Given the description of an element on the screen output the (x, y) to click on. 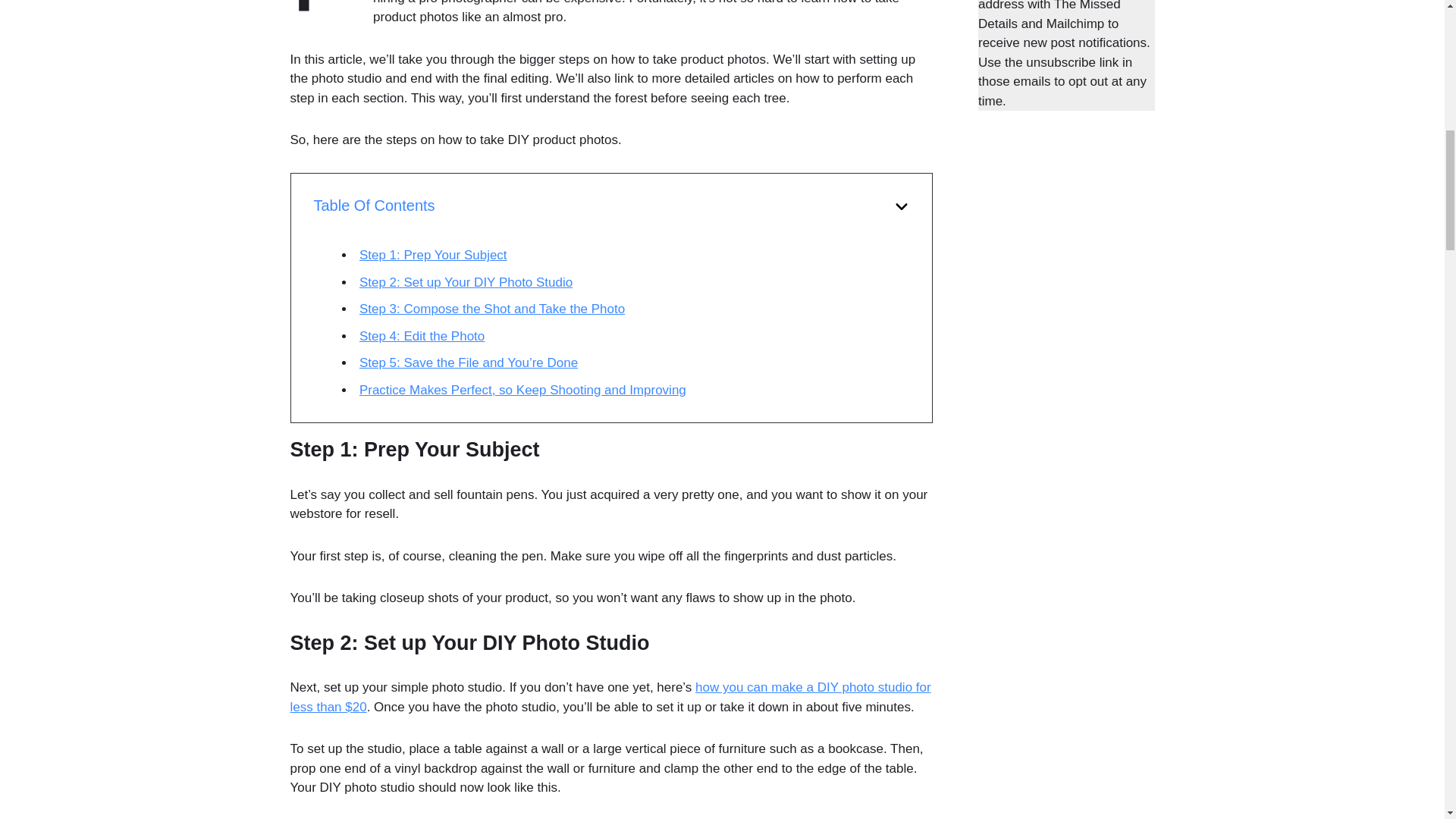
Practice Makes Perfect, so Keep Shooting and Improving (522, 390)
Step 4: Edit the Photo (421, 336)
Step 3: Compose the Shot and Take the Photo (491, 309)
Step 1: Prep Your Subject (432, 255)
Step 2: Set up Your DIY Photo Studio (465, 282)
